Given the description of an element on the screen output the (x, y) to click on. 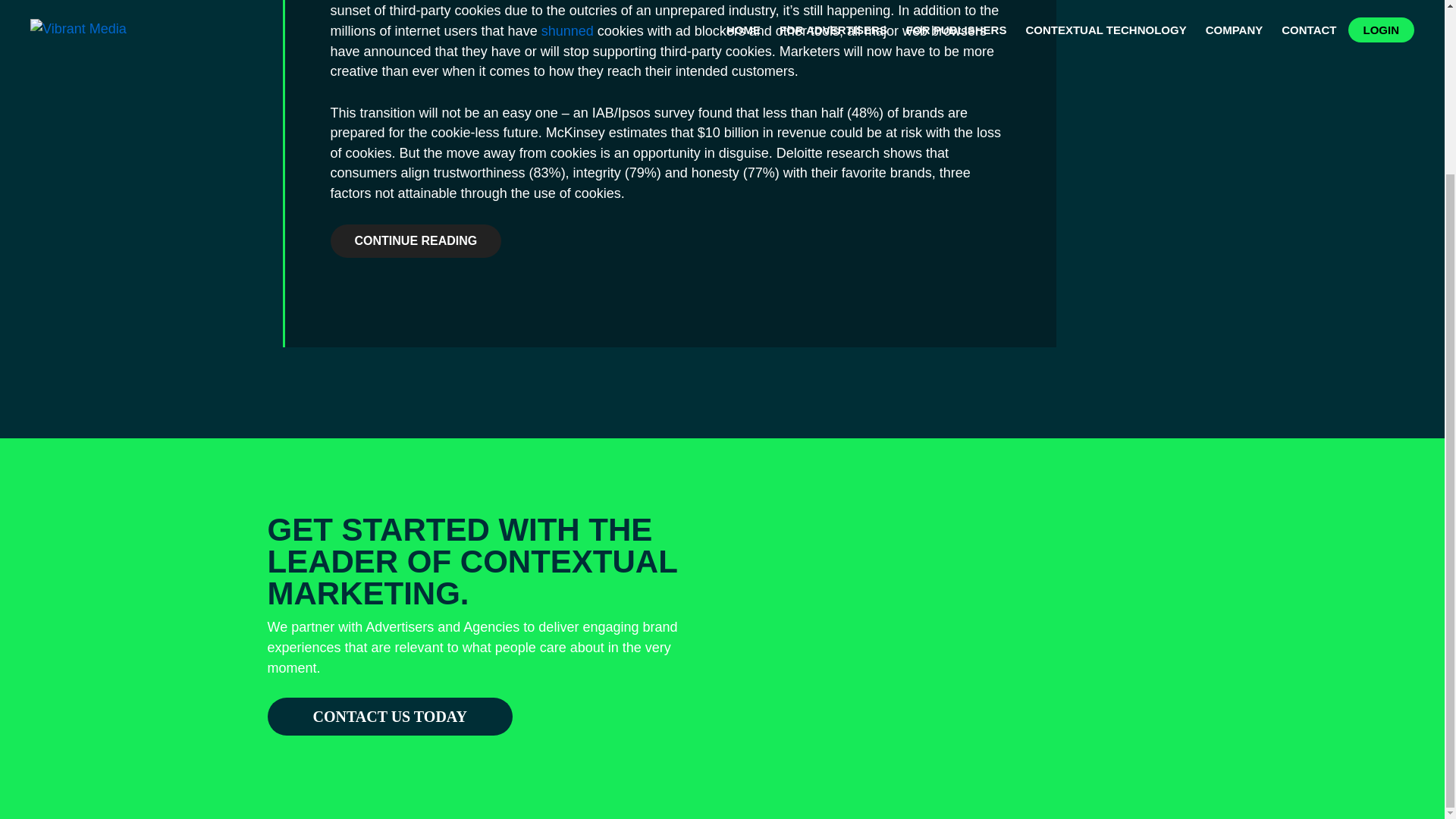
Cookie Statement (386, 554)
Opt Out (560, 554)
CONTINUE READING (416, 240)
CONTACT US TODAY (389, 716)
Privacy Policy (297, 554)
shunned (567, 30)
